Given the description of an element on the screen output the (x, y) to click on. 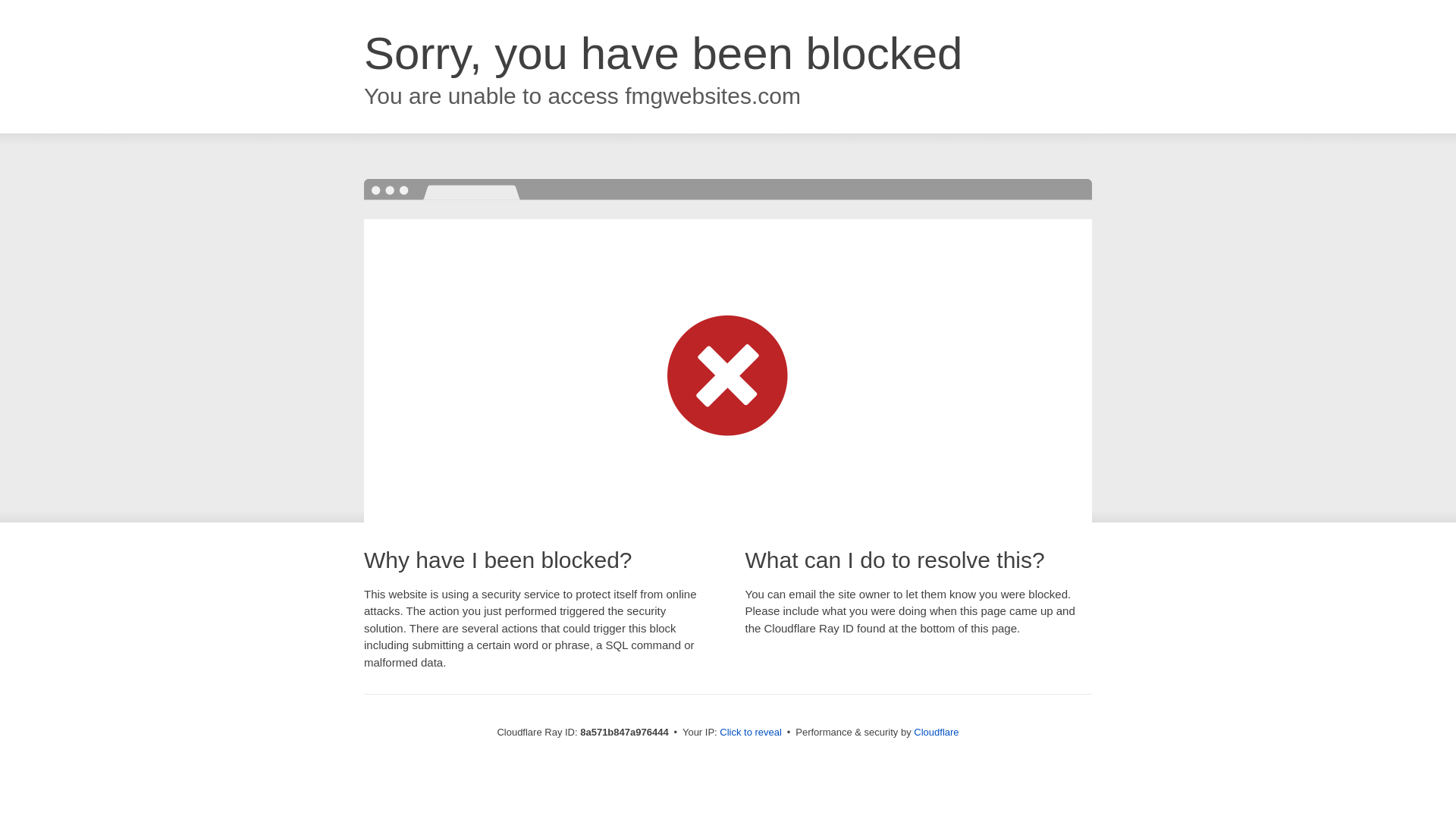
Cloudflare (936, 731)
Click to reveal (750, 732)
